Given the description of an element on the screen output the (x, y) to click on. 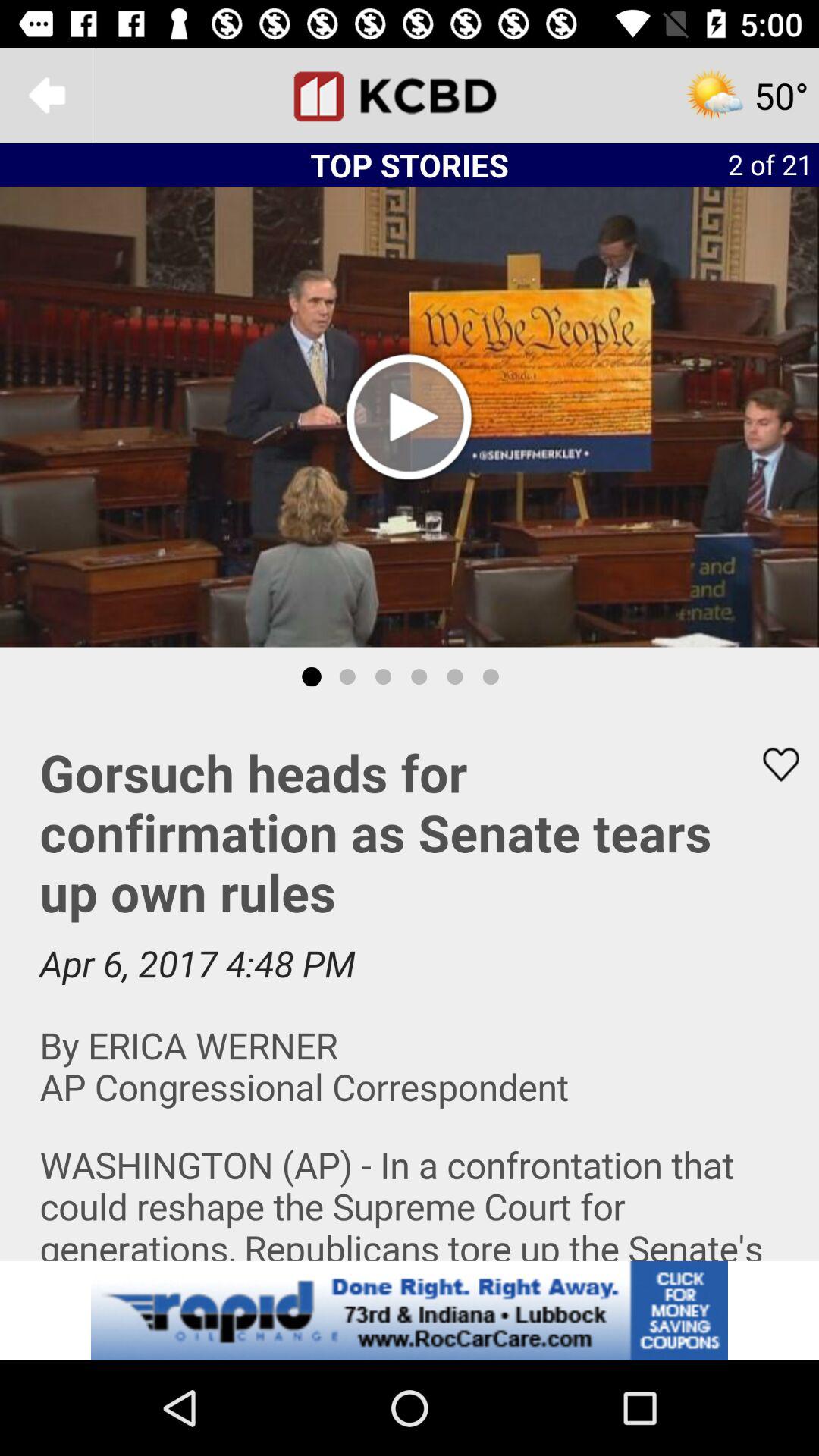
link to an advertisement (409, 1310)
